Given the description of an element on the screen output the (x, y) to click on. 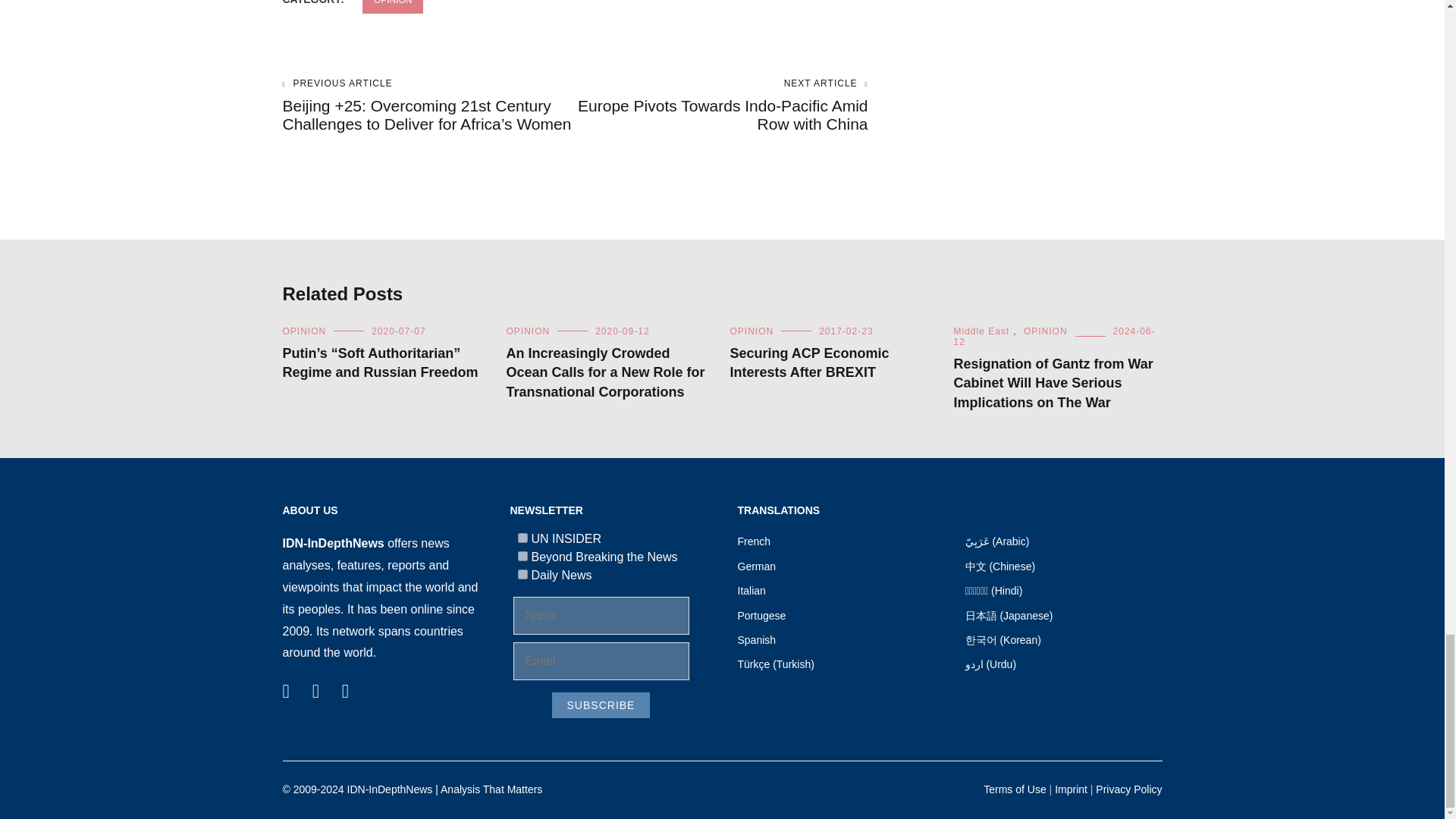
7 (521, 537)
9 (521, 556)
10 (521, 574)
